Given the description of an element on the screen output the (x, y) to click on. 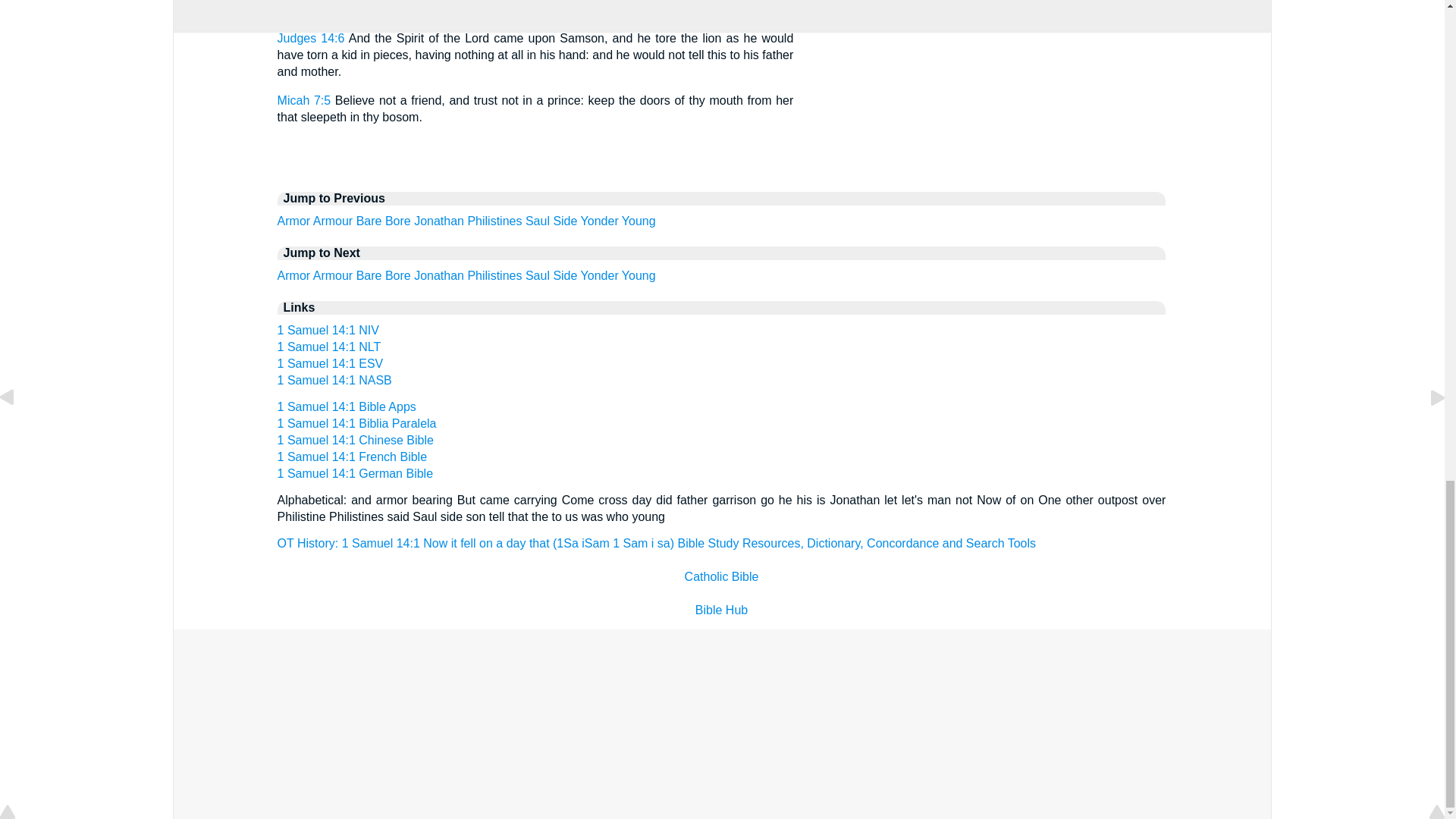
Yonder (599, 220)
Saul (537, 220)
Jonathan (438, 275)
Young (638, 220)
Yonder (599, 275)
Bore (397, 220)
Bore (397, 275)
Bare (368, 275)
Side (564, 275)
Judges 14:6 (311, 38)
